Given the description of an element on the screen output the (x, y) to click on. 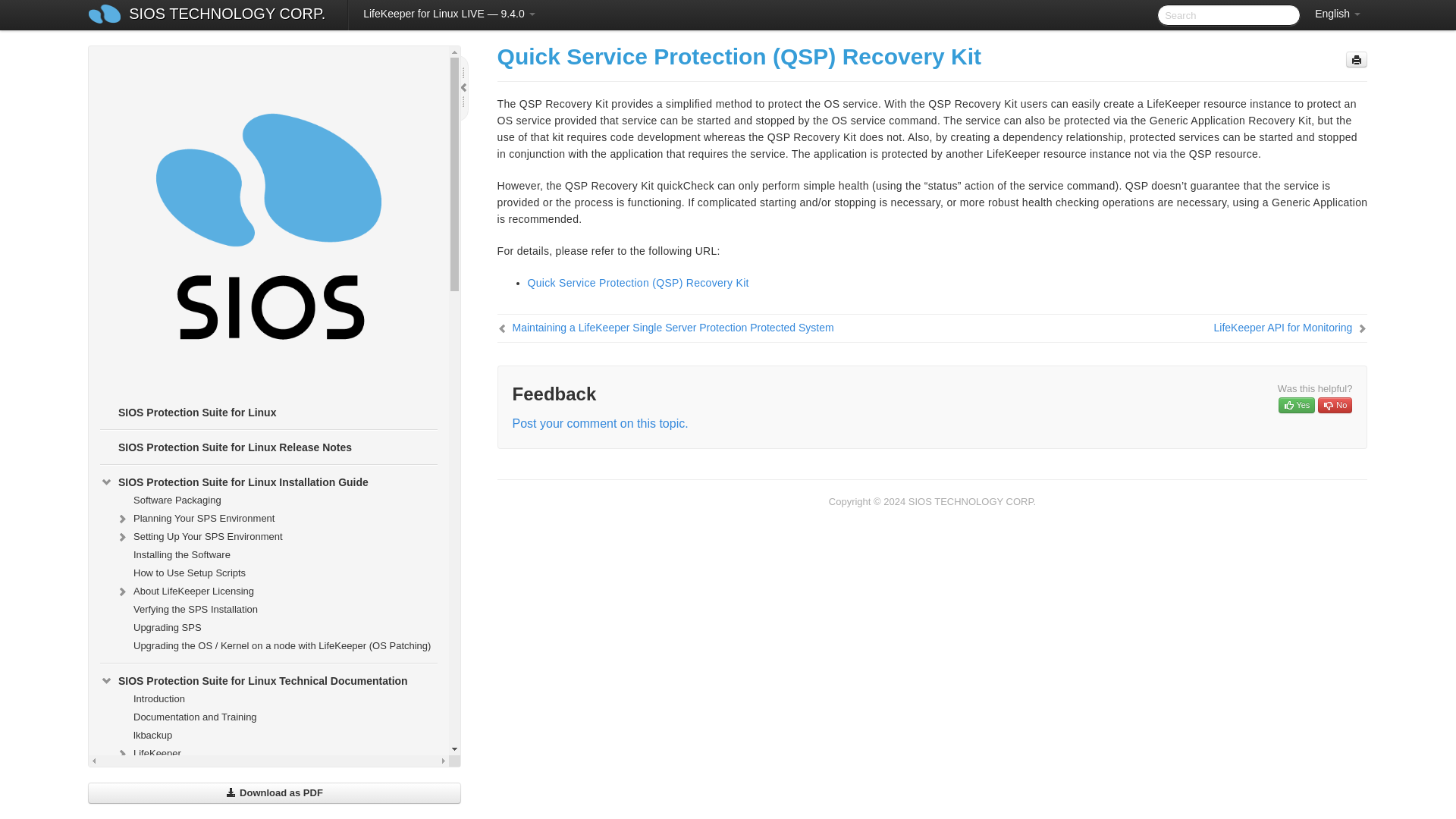
English (1337, 14)
SIOS TECHNOLOGY CORP. (226, 15)
Print page (1356, 59)
